Given the description of an element on the screen output the (x, y) to click on. 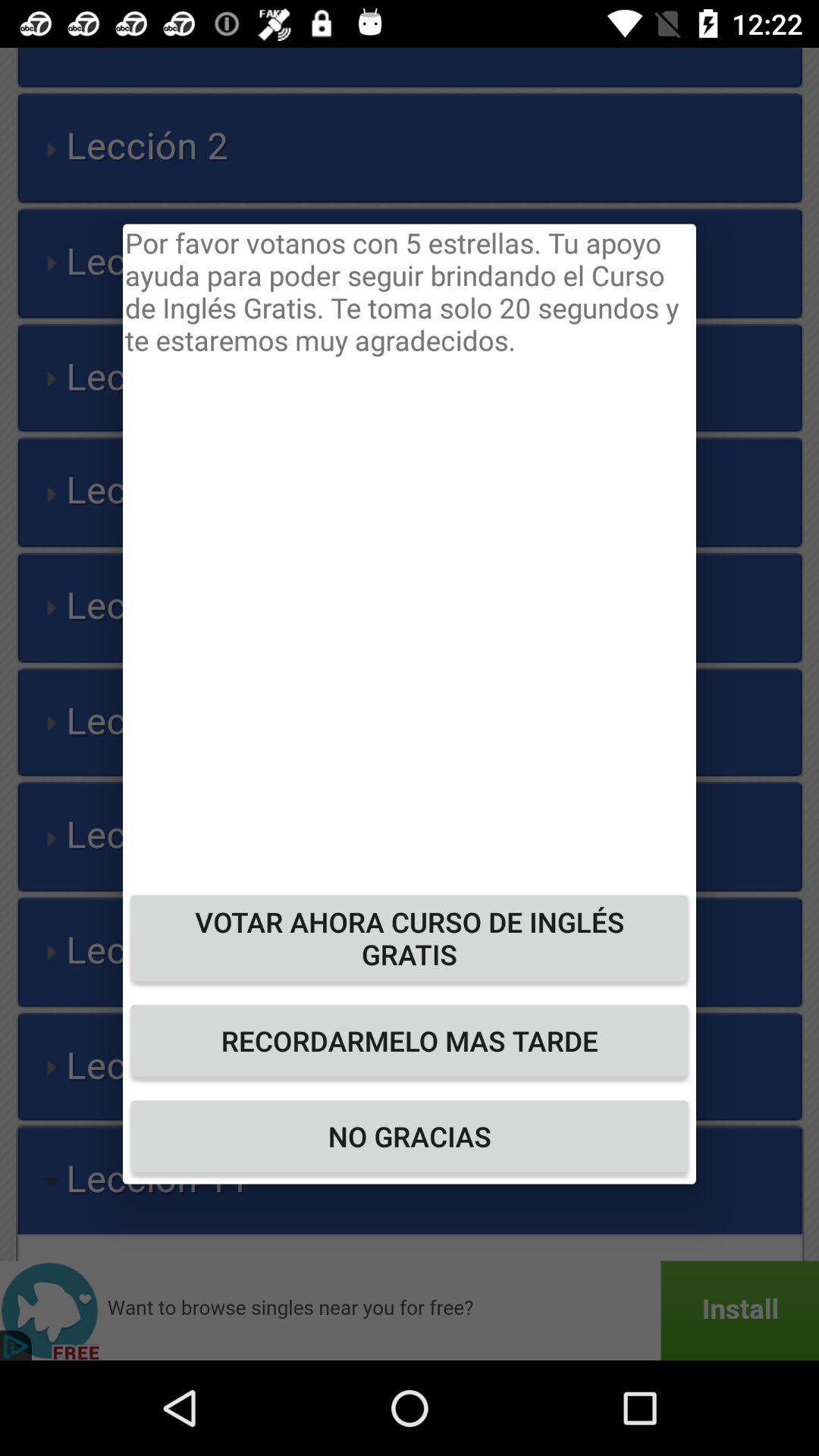
turn off votar ahora curso (409, 938)
